Given the description of an element on the screen output the (x, y) to click on. 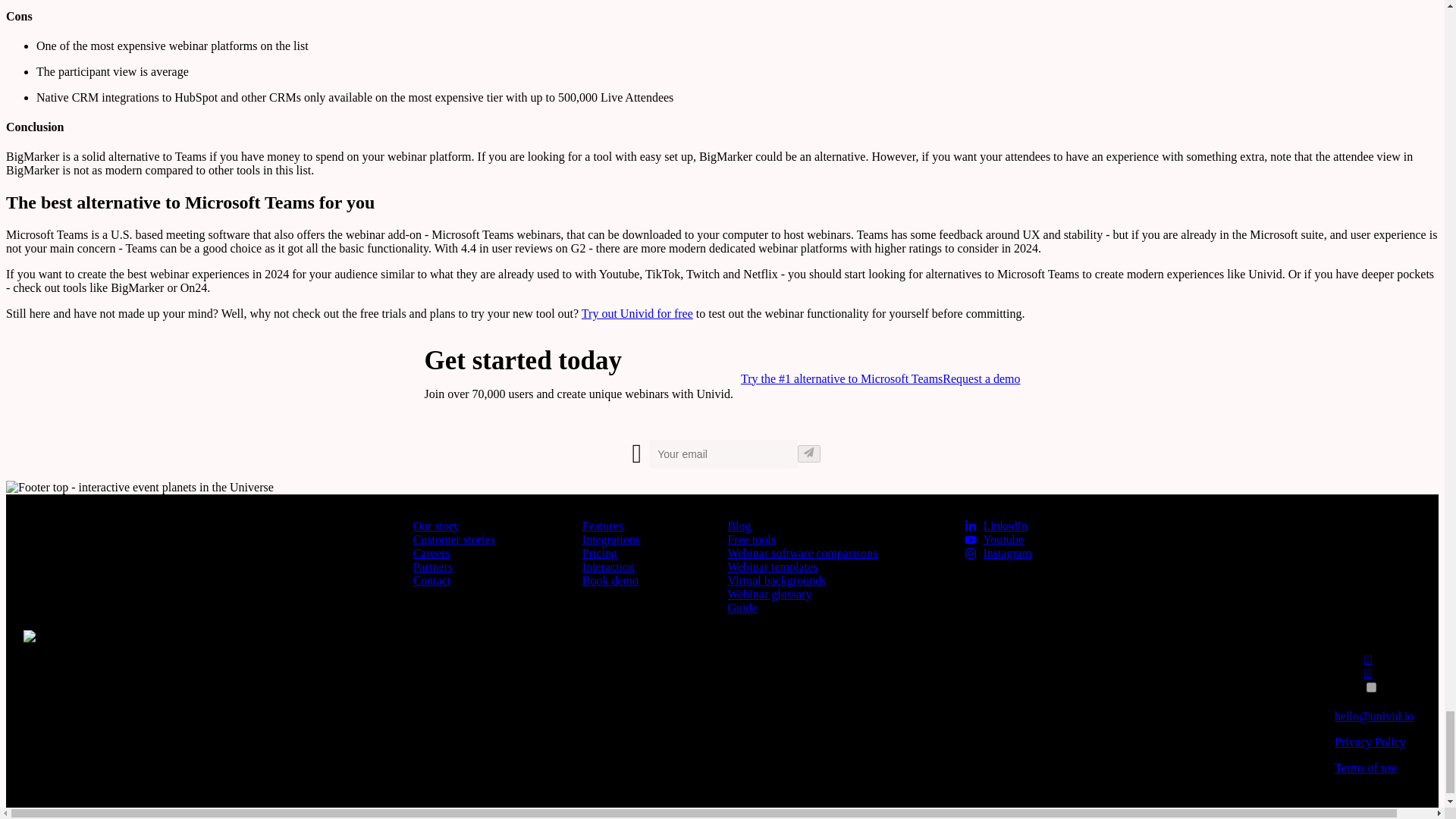
Try out Univid for free (636, 313)
Request a demo (981, 378)
Our story (436, 525)
on (1371, 687)
